Given the description of an element on the screen output the (x, y) to click on. 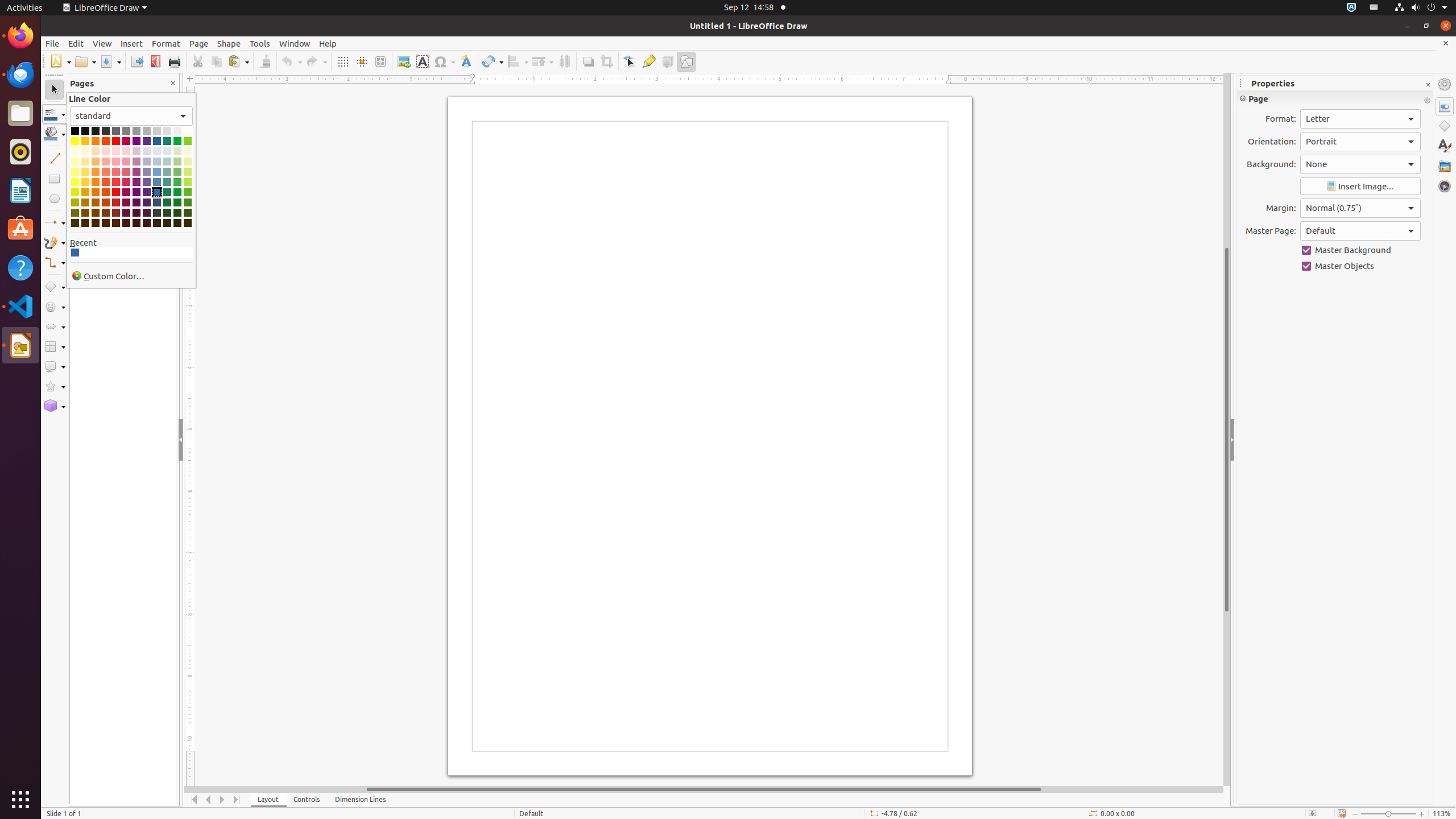
Light Green 3 Element type: list-item (177, 161)
Toggle Extrusion Element type: push-button (667, 61)
Brick Element type: list-item (105, 140)
Light Gold 3 Element type: list-item (85, 161)
Edit Element type: menu (75, 43)
